Given the description of an element on the screen output the (x, y) to click on. 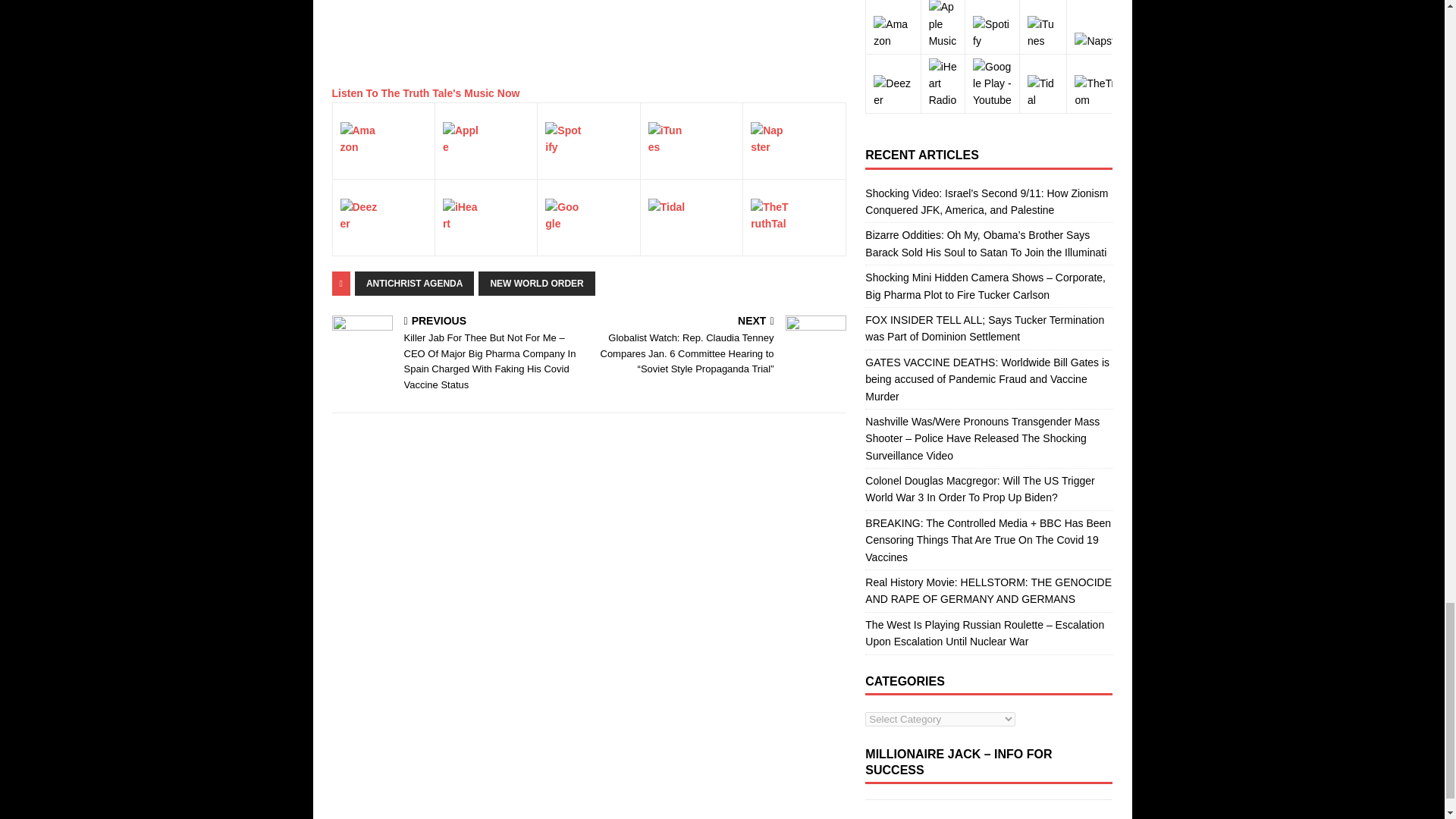
Listen To The Truth Tale's Music Now (425, 92)
ANTICHRIST AGENDA (414, 283)
NEW WORLD ORDER (536, 283)
